Given the description of an element on the screen output the (x, y) to click on. 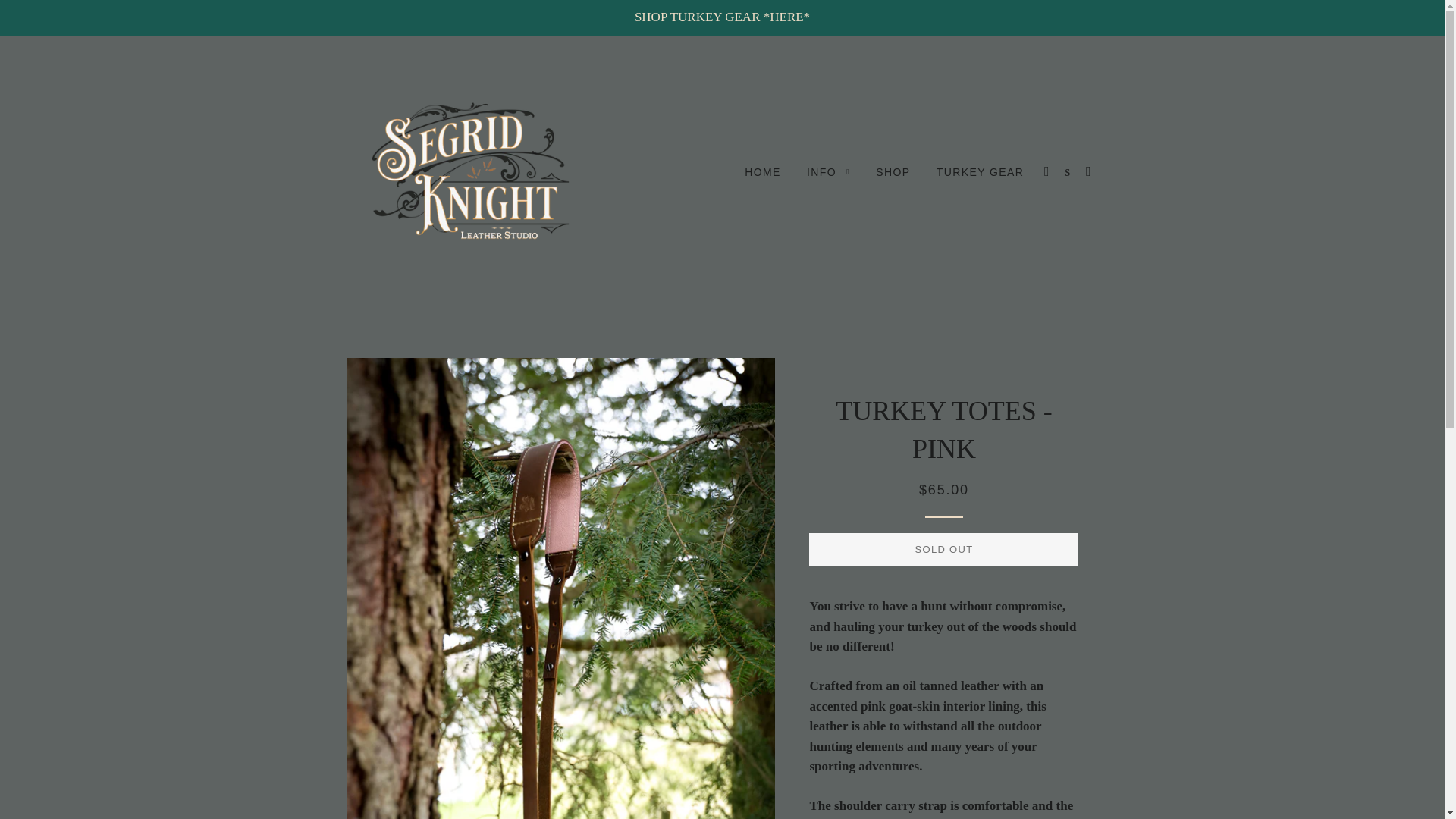
HOME (762, 172)
INFO (827, 172)
SHOP (892, 172)
TURKEY GEAR (979, 172)
